Given the description of an element on the screen output the (x, y) to click on. 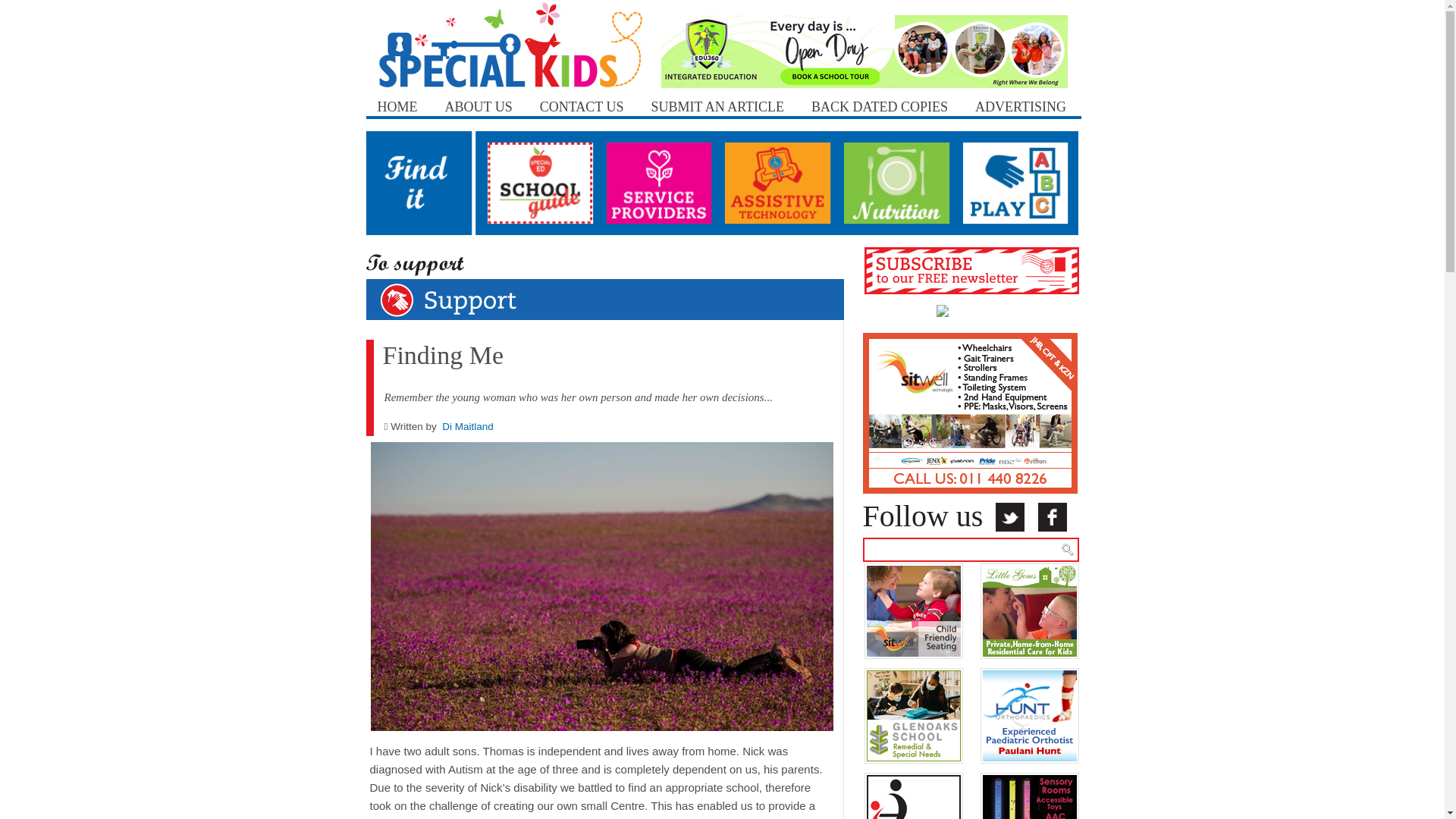
Click to preview image (600, 590)
Internal side 22q11b (913, 818)
School guide (544, 181)
Di Maitland (467, 426)
CONTACT US (581, 98)
Top ad EDU360 (864, 50)
Service Providers (663, 181)
Internal side glenoaks (913, 718)
Play (1019, 181)
SUBMIT AN ARTICLE (716, 98)
Find it (424, 181)
Side  ad Amedeo (970, 411)
HOME (396, 98)
ADVERTISING (1020, 98)
Assistive technology (781, 181)
